Given the description of an element on the screen output the (x, y) to click on. 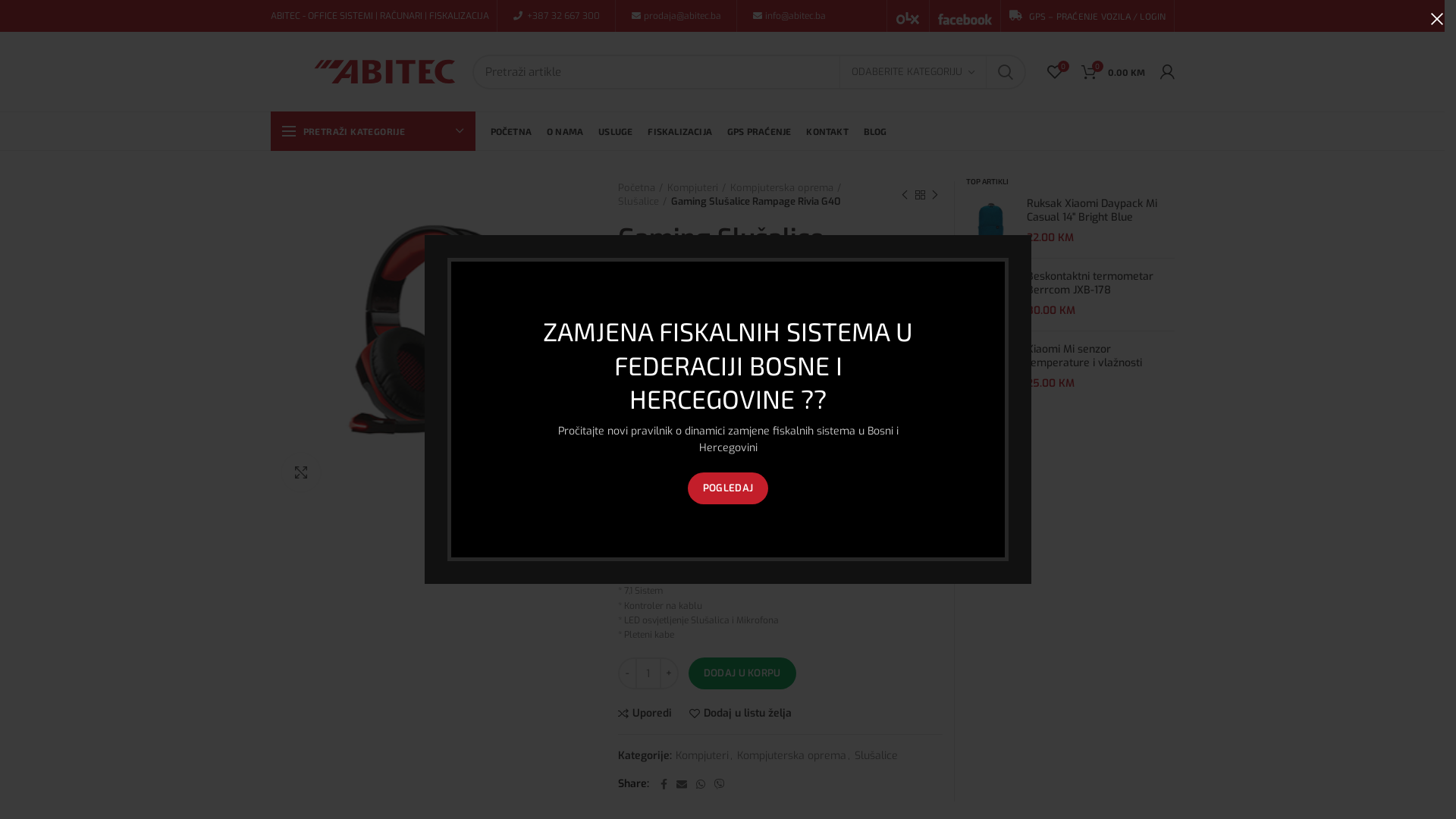
Log in Element type: text (850, 246)
Kompjuterska oprema Element type: text (791, 755)
FISKALIZACIJA Element type: text (679, 131)
0
0.00 KM Element type: text (1112, 71)
ODABERITE KATEGORIJU Element type: text (912, 72)
Ruksak Xiaomi Daypack Mi Casual 14" Bright Blue Element type: hover (990, 221)
WhatsApp Element type: text (700, 783)
Previous product Element type: text (904, 194)
0 Element type: text (1053, 71)
prodaja@abitec.ba Element type: text (681, 15)
BLOG Element type: text (875, 131)
Ruksak Xiaomi Daypack Mi Casual 14" Bright Blue Element type: text (1100, 210)
POGLEDAJ Element type: text (727, 488)
Email Element type: text (681, 783)
O NAMA Element type: text (564, 131)
Next product Element type: text (934, 194)
Facebook Element type: text (663, 783)
Log in Element type: text (1049, 298)
1 Element type: hover (432, 341)
+387 32 667 300 Element type: text (562, 15)
info@abitec.ba Element type: text (793, 15)
USLUGE Element type: text (615, 131)
KONTAKT Element type: text (826, 131)
Kompjuteri Element type: text (701, 755)
Viber Element type: text (719, 783)
Kompjuterska oprema Element type: text (785, 187)
Kompjuteri Element type: text (696, 187)
DODAJ U KORPU Element type: text (742, 673)
Uporedi Element type: text (644, 713)
Beskontaktni termometar Berrcom JXB-178 Element type: hover (990, 294)
Beskontaktni termometar Berrcom JXB-178 Element type: text (1100, 283)
